Given the description of an element on the screen output the (x, y) to click on. 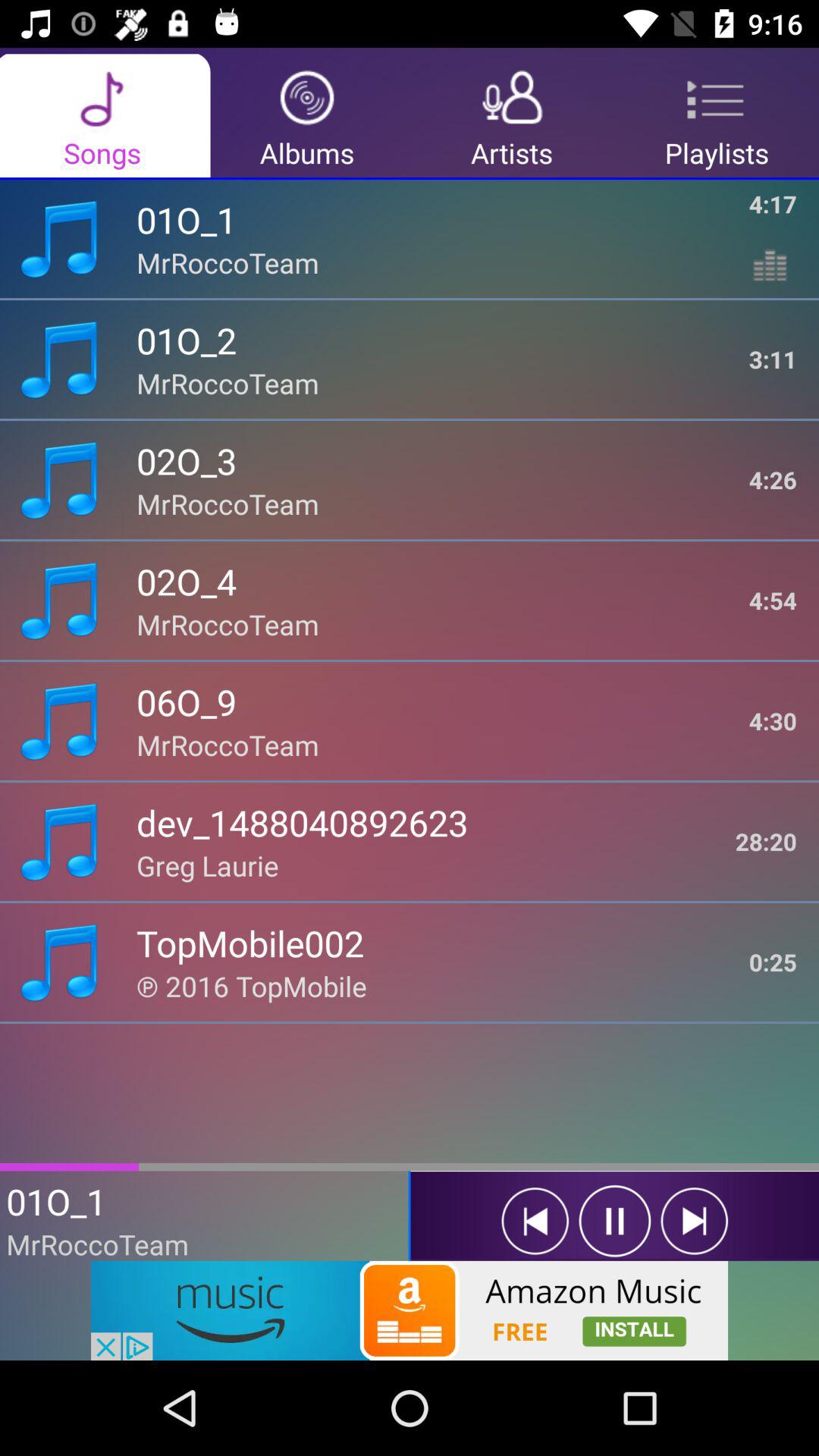
prevous (535, 1220)
